Given the description of an element on the screen output the (x, y) to click on. 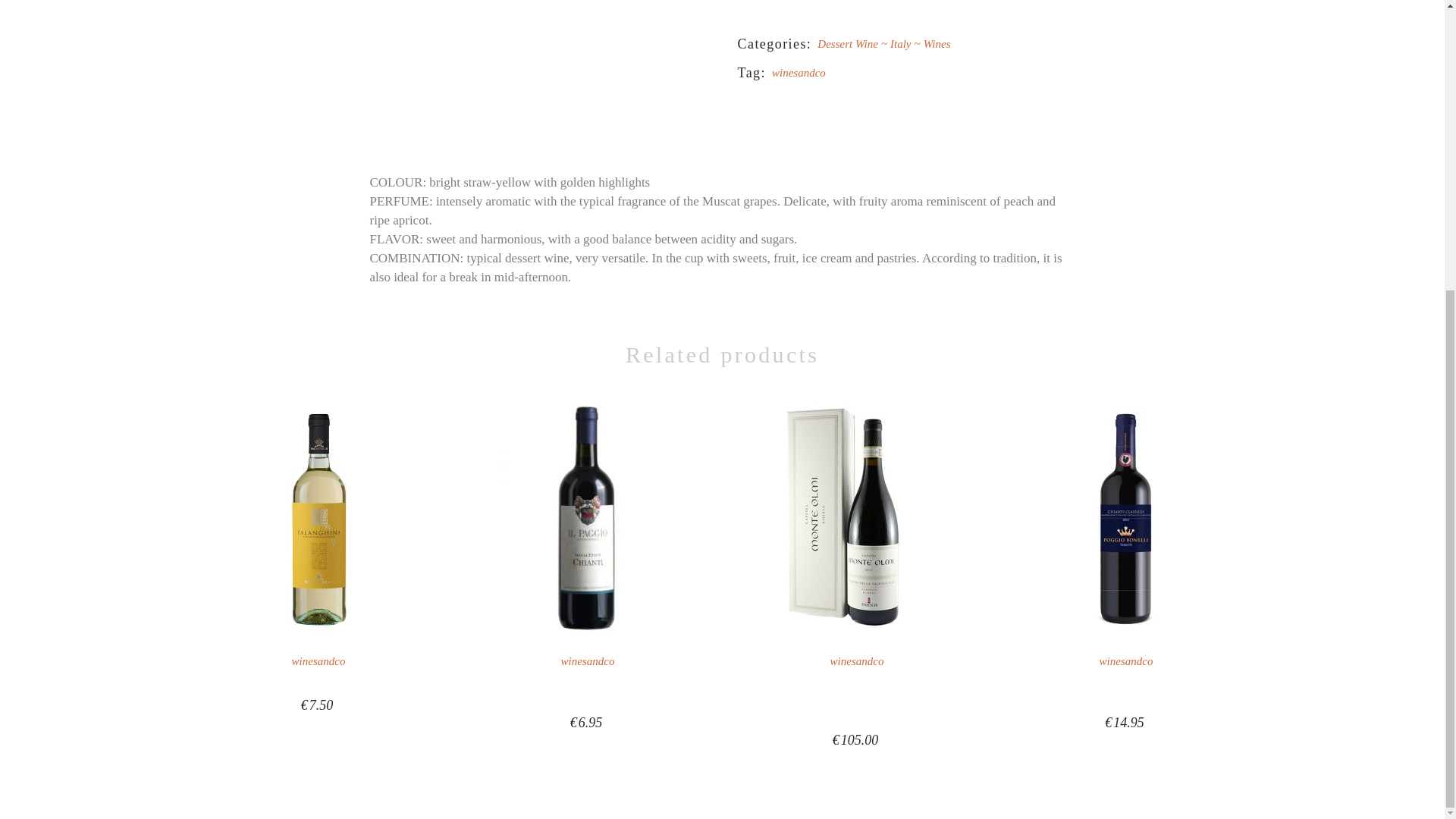
Italy (906, 43)
winesandco (798, 72)
Dessert Wine (852, 43)
Wines (936, 43)
winesandco (587, 660)
winesandco (319, 660)
